Given the description of an element on the screen output the (x, y) to click on. 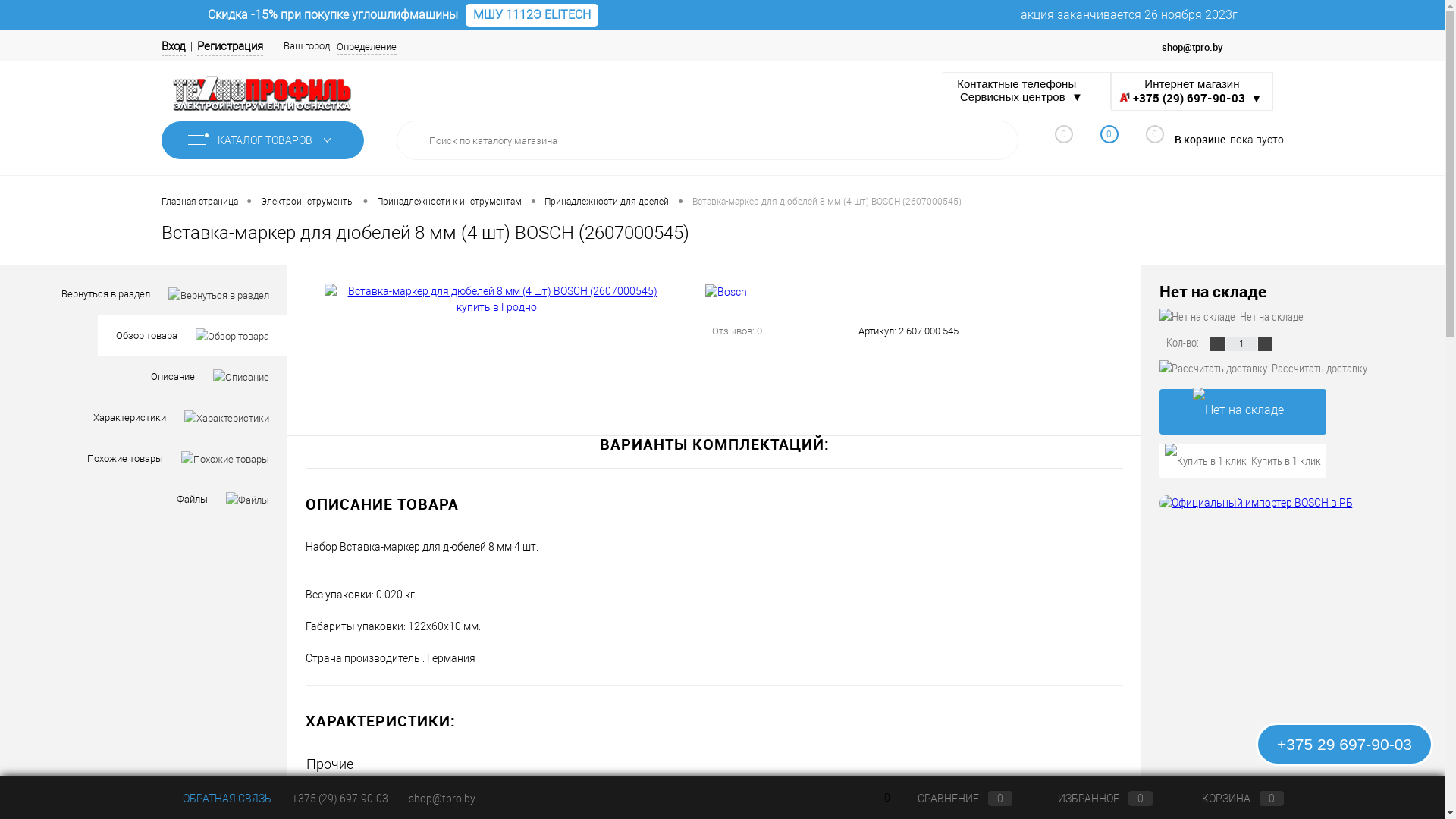
0 Element type: text (1146, 140)
shop@tpro.by Element type: text (440, 798)
+375 (29) 697-90-03 Element type: text (339, 798)
Y Element type: text (995, 140)
0 Element type: text (1100, 142)
+375 29 697-90-03 Element type: text (1344, 744)
Bosch Element type: text (590, 793)
200px-A1_Logo_Red.jpg Element type: hover (1124, 96)
0 Element type: text (1055, 142)
